Given the description of an element on the screen output the (x, y) to click on. 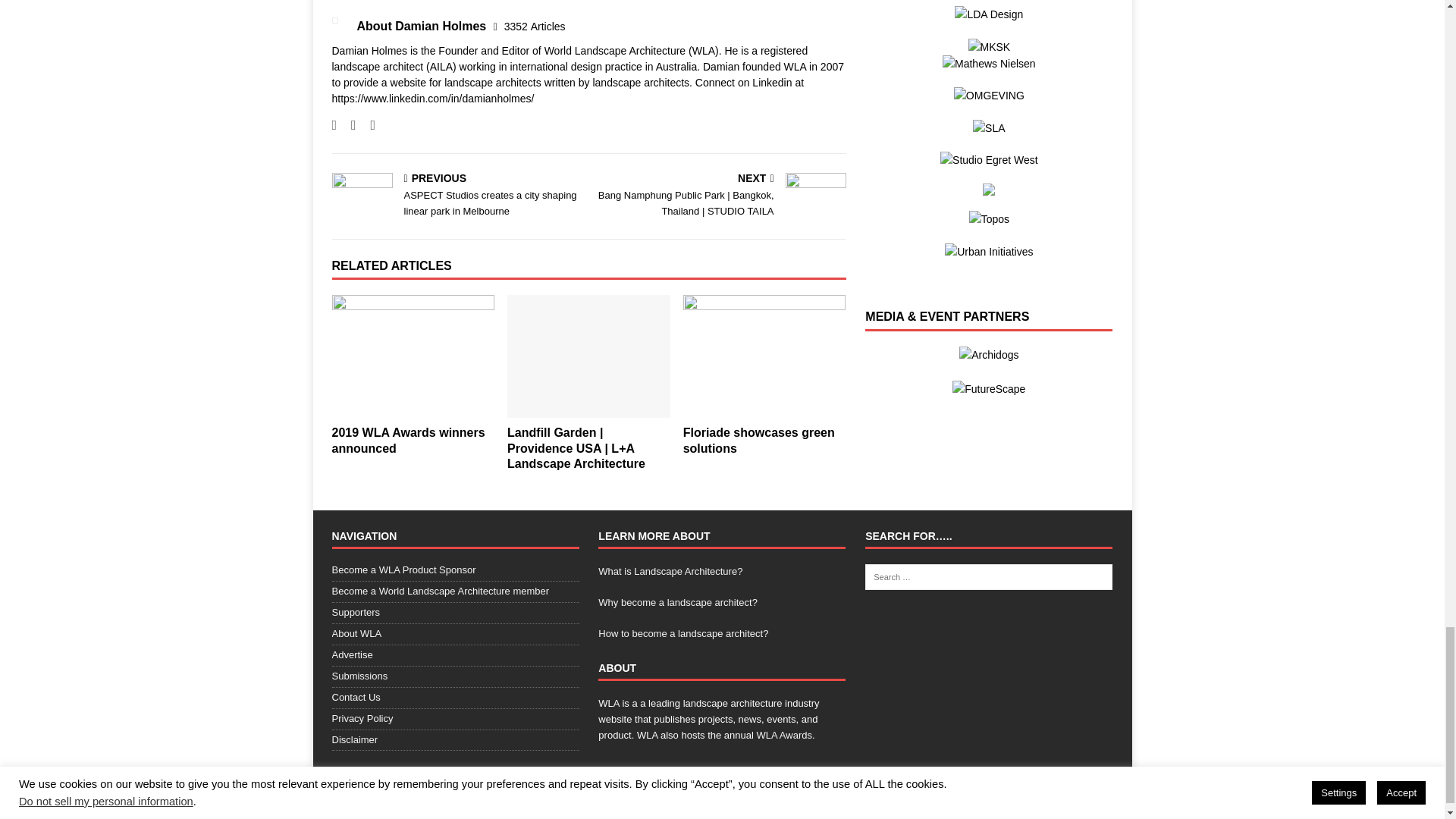
Follow Damian Holmes on Twitter (347, 124)
Follow Damian Holmes on LinkedIn (366, 124)
2019 WLA Awards winners announced (413, 355)
More articles written by Damian Holmes' (534, 26)
